Given the description of an element on the screen output the (x, y) to click on. 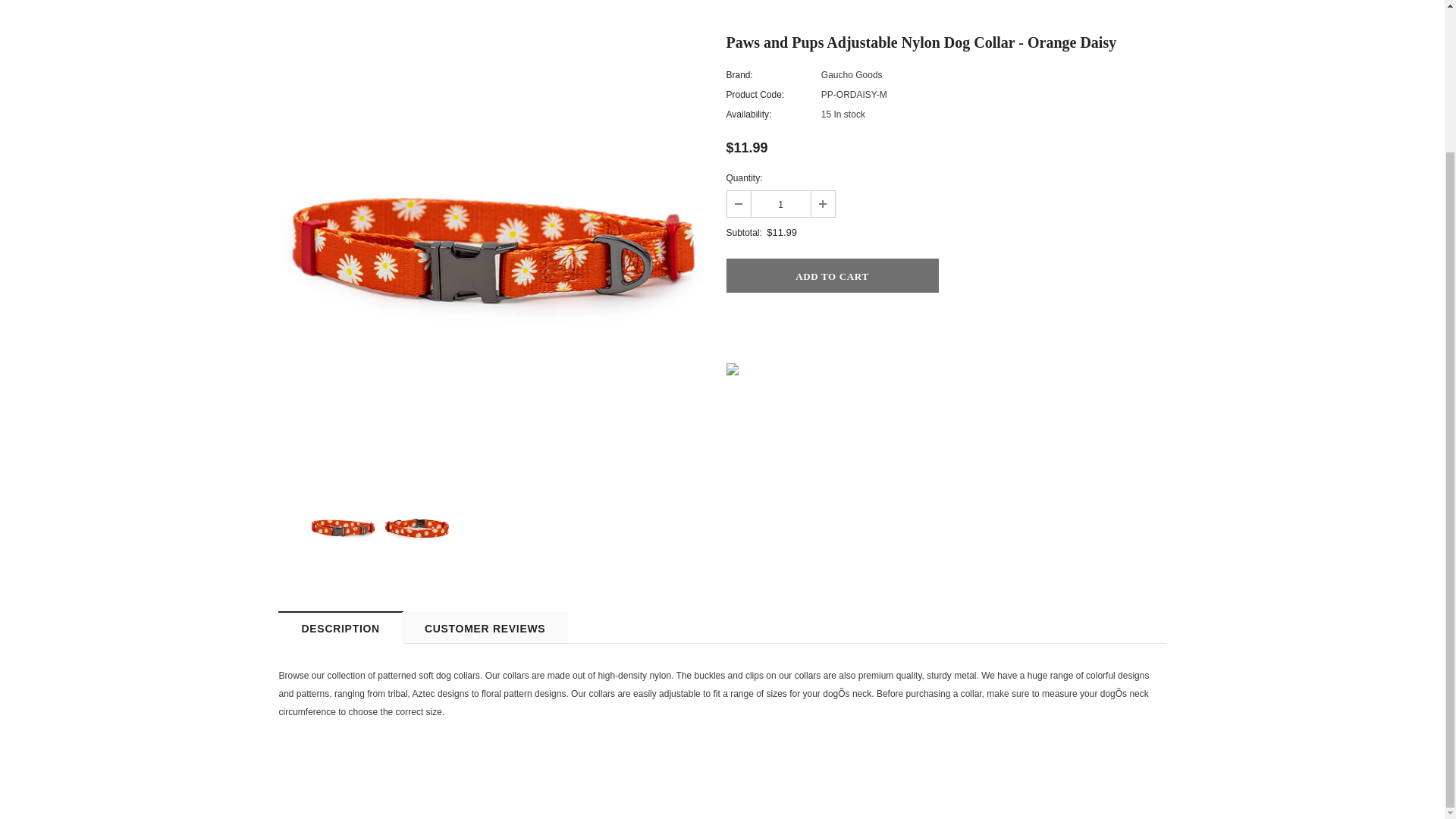
Add to cart (832, 275)
1 (780, 203)
